Given the description of an element on the screen output the (x, y) to click on. 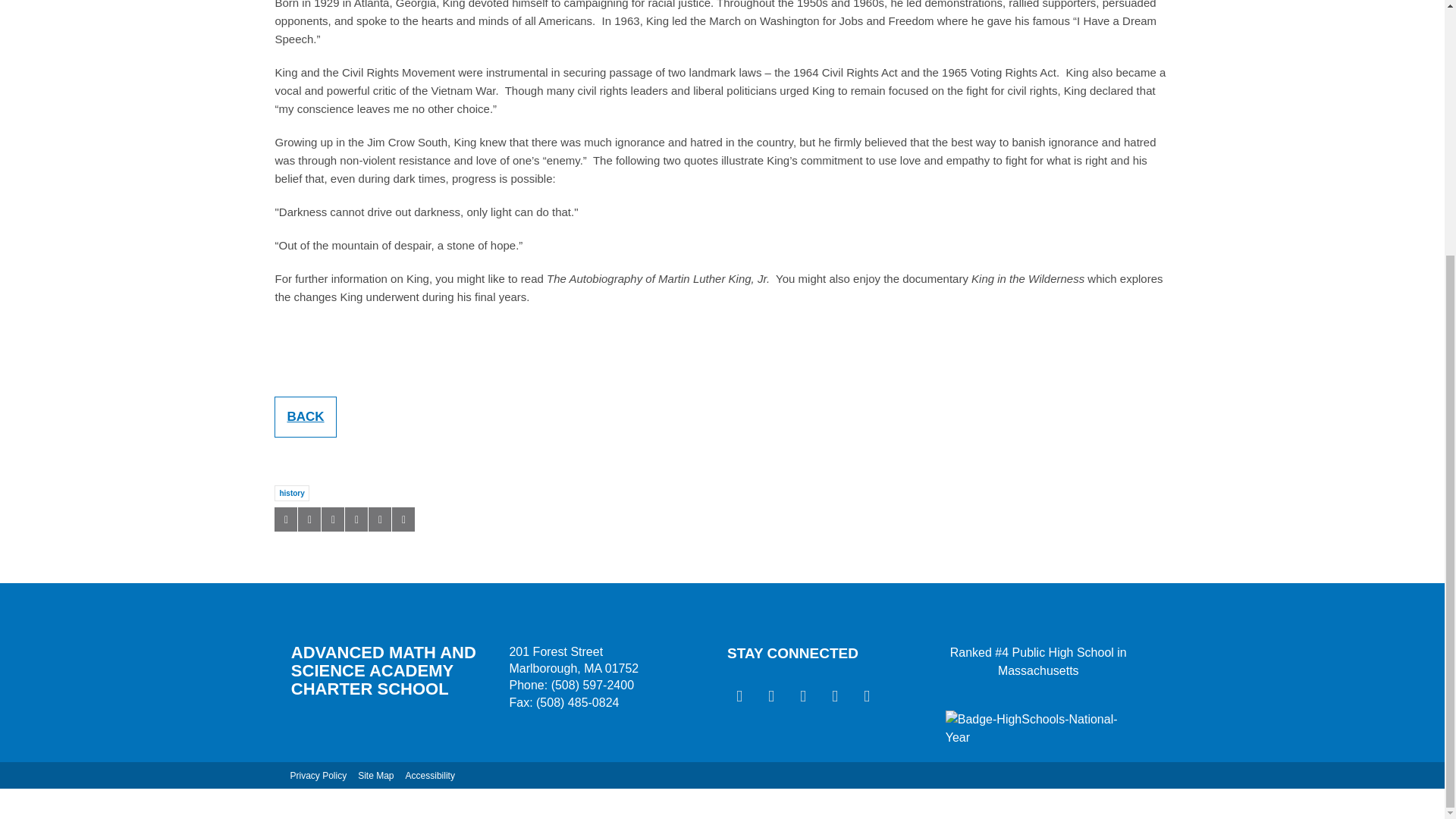
Share to Twitter (309, 518)
Powered by Finalsite opens in a new window (1259, 808)
Print this page (402, 518)
Share to Email (379, 518)
Share to LinkedIn (332, 518)
Share to Pinterest (356, 518)
Share to Facebook (286, 518)
